Given the description of an element on the screen output the (x, y) to click on. 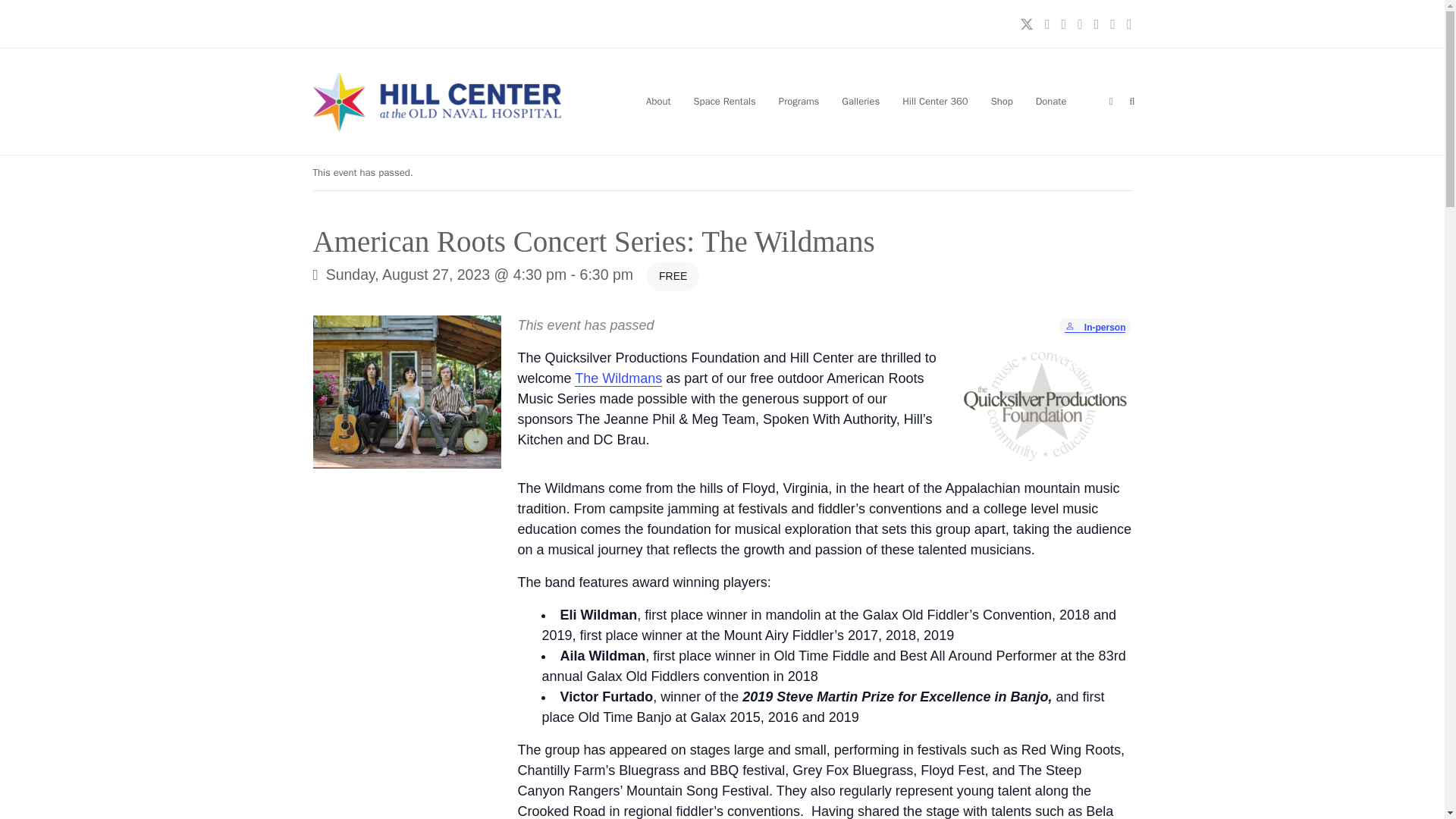
Hill Center 360 (934, 101)
In-person Events (1071, 327)
Programs (799, 101)
Shop (1002, 101)
About (657, 101)
Space Rentals (724, 101)
Galleries (860, 101)
Donate (1051, 101)
